Given the description of an element on the screen output the (x, y) to click on. 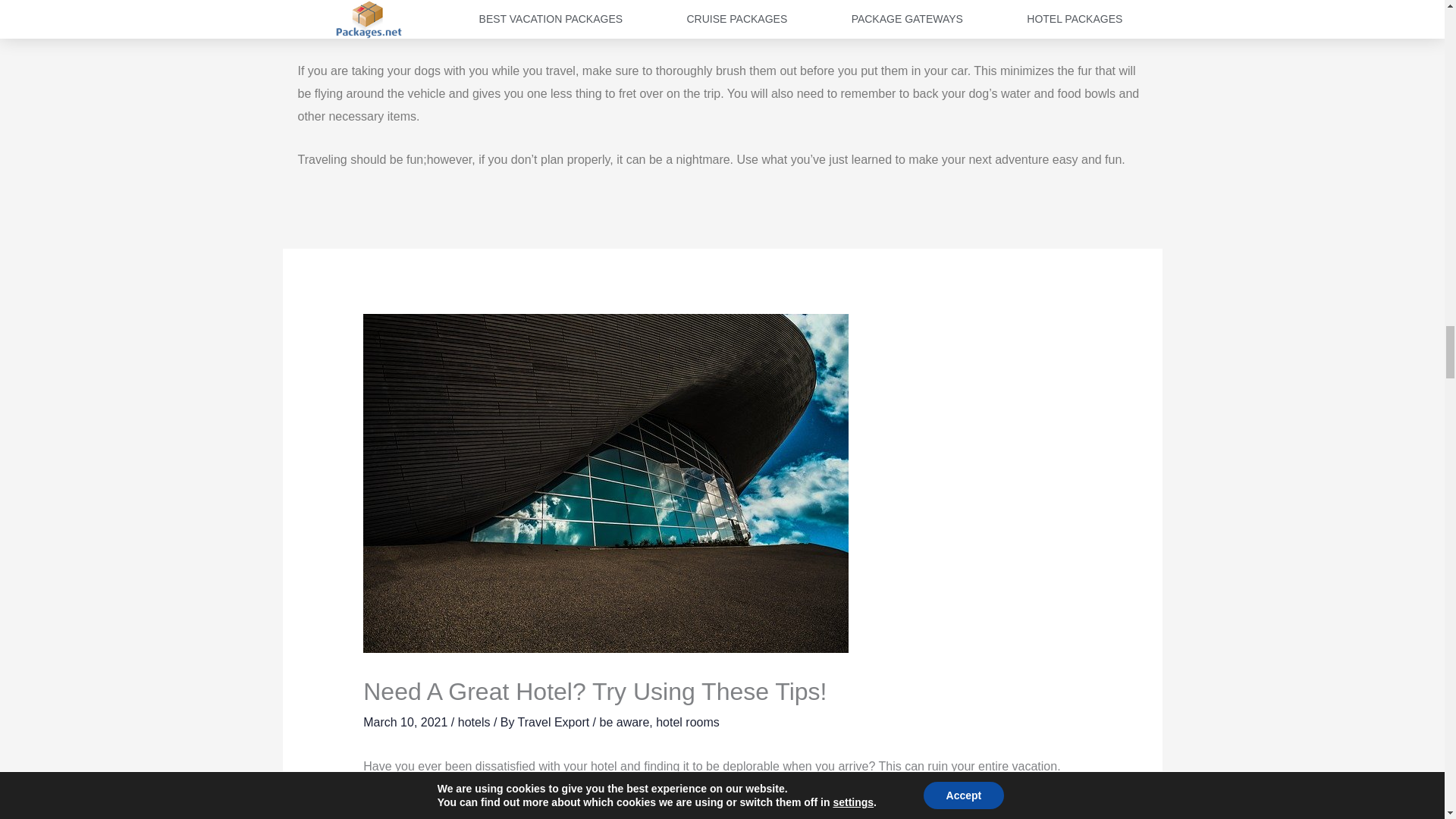
Travel Export (555, 721)
hotel rooms (687, 721)
be aware (623, 721)
hotels (474, 721)
View all posts by Travel Export (555, 721)
